Given the description of an element on the screen output the (x, y) to click on. 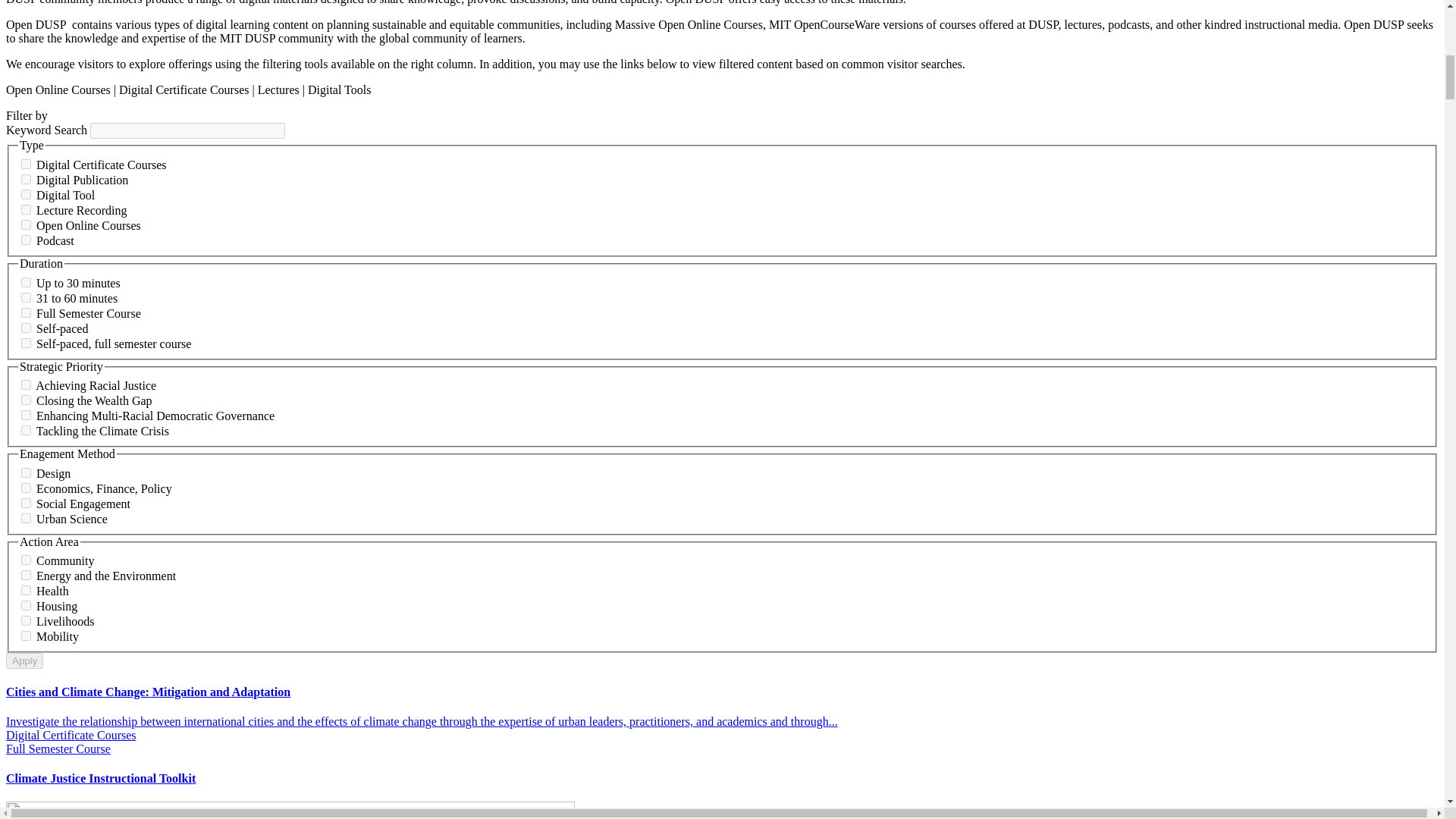
102 (25, 163)
55 (25, 429)
95 (25, 209)
91 (25, 343)
88 (25, 297)
93 (25, 179)
54 (25, 415)
94 (25, 194)
92 (25, 282)
90 (25, 327)
56 (25, 399)
89 (25, 312)
101 (25, 225)
53 (25, 384)
100 (25, 239)
